Given the description of an element on the screen output the (x, y) to click on. 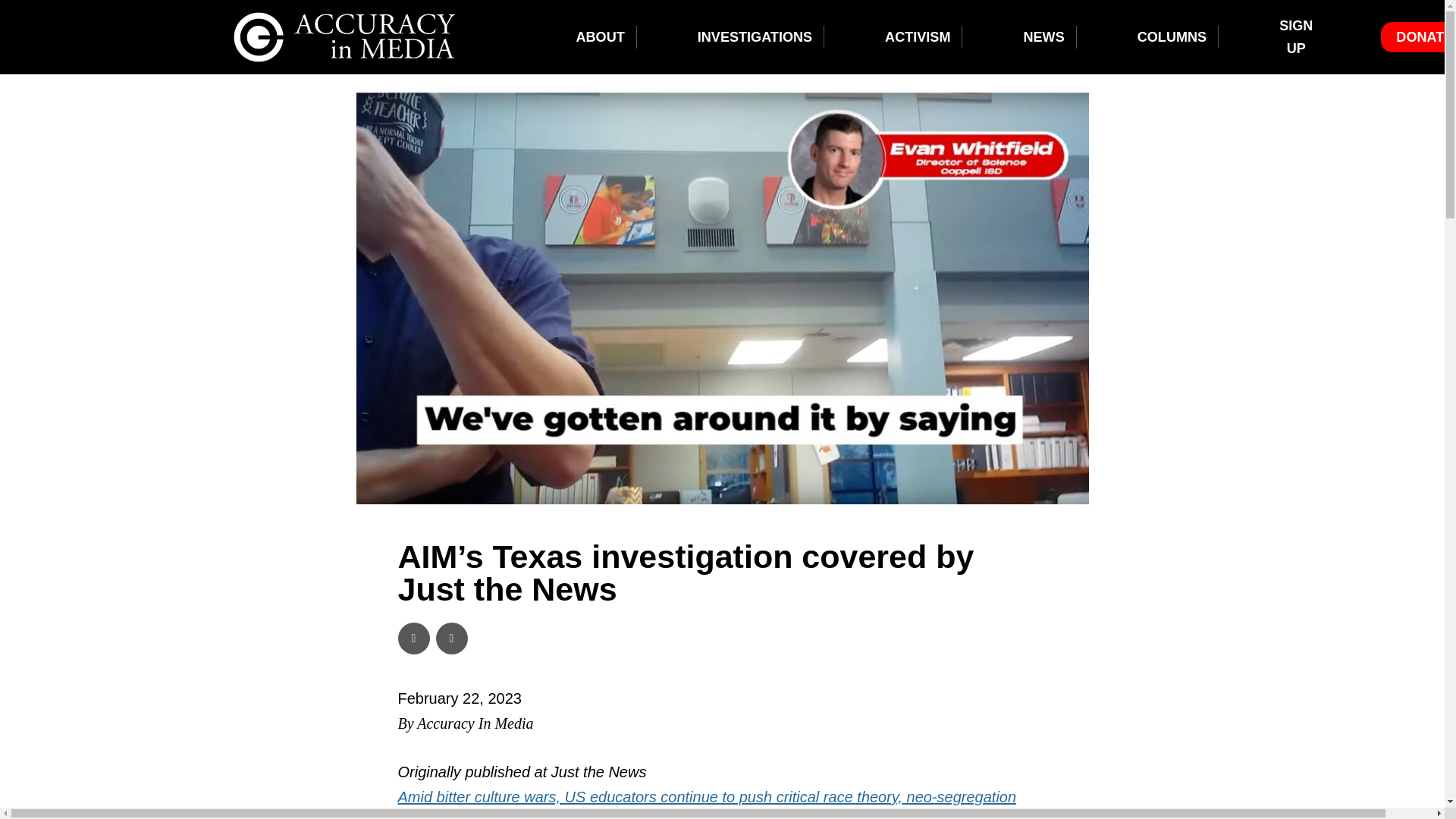
INVESTIGATIONS (754, 37)
ACTIVISM (917, 37)
DONATE (1424, 37)
ABOUT (599, 37)
COLUMNS (1172, 37)
NEWS (1043, 37)
